Given the description of an element on the screen output the (x, y) to click on. 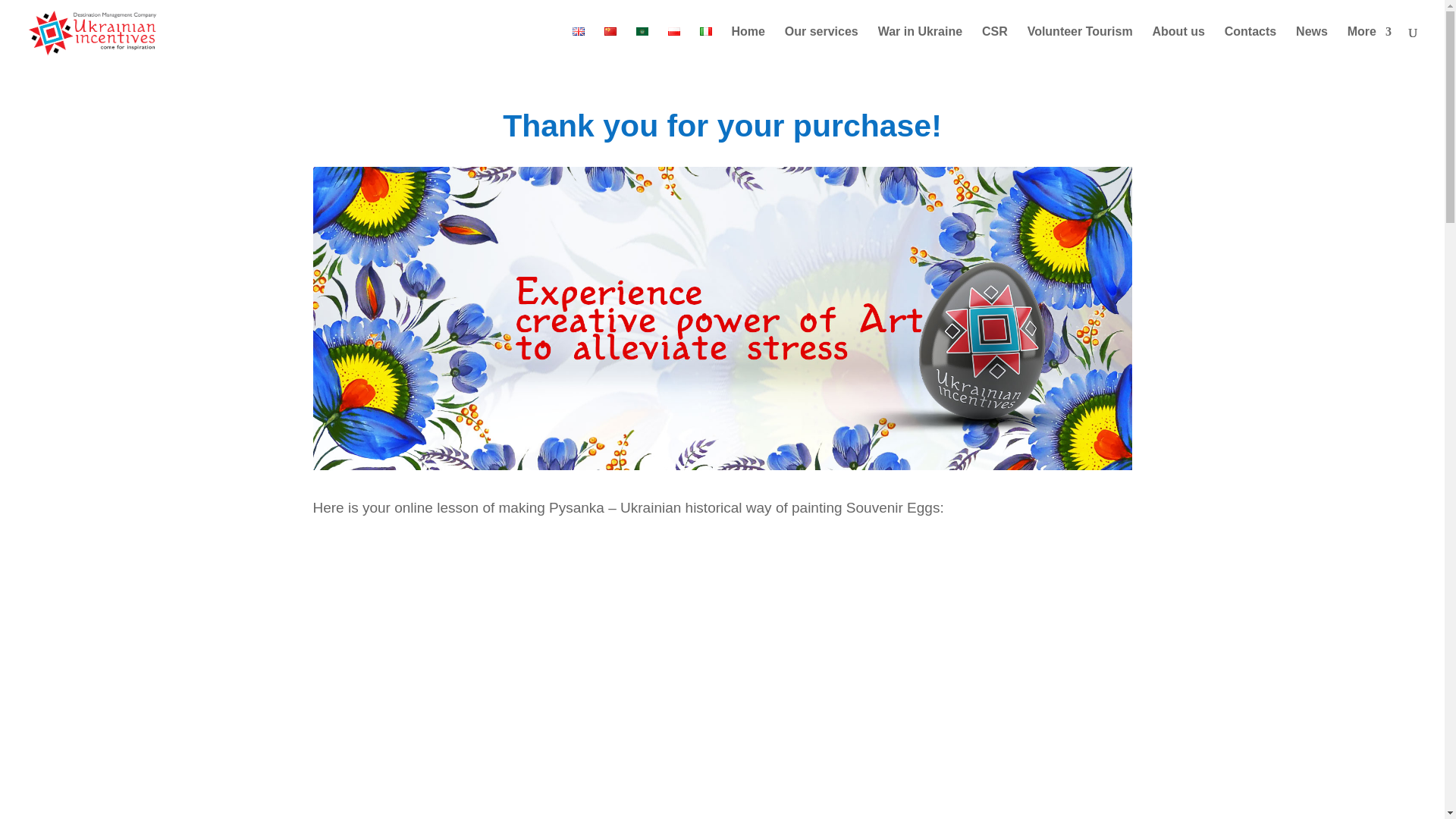
Volunteer Tourism (1079, 44)
About us (1179, 44)
More (1369, 44)
Our services (821, 44)
War in Ukraine (919, 44)
Home (747, 44)
Contacts (1250, 44)
